Given the description of an element on the screen output the (x, y) to click on. 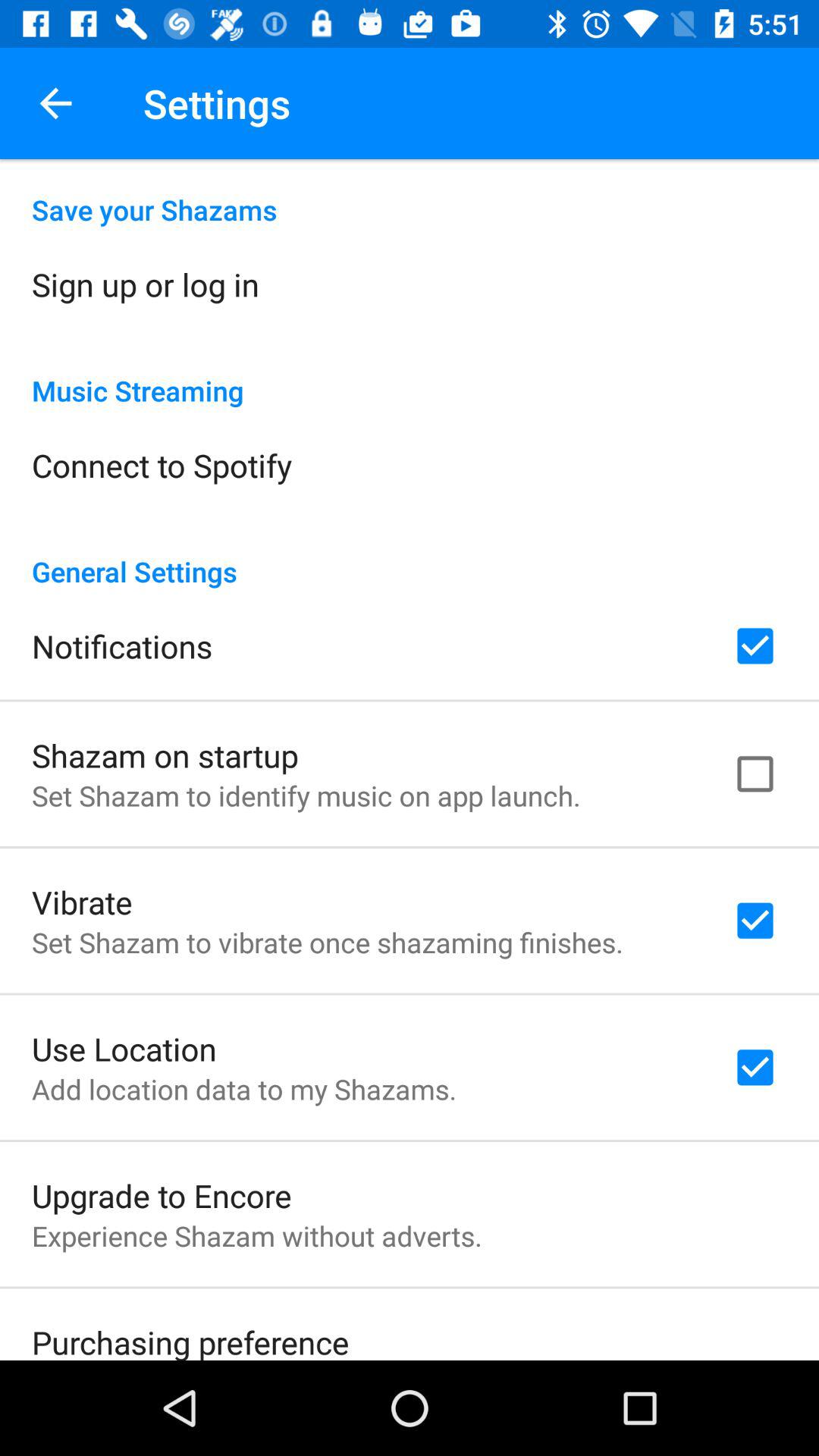
launch the item above the general settings icon (161, 464)
